Given the description of an element on the screen output the (x, y) to click on. 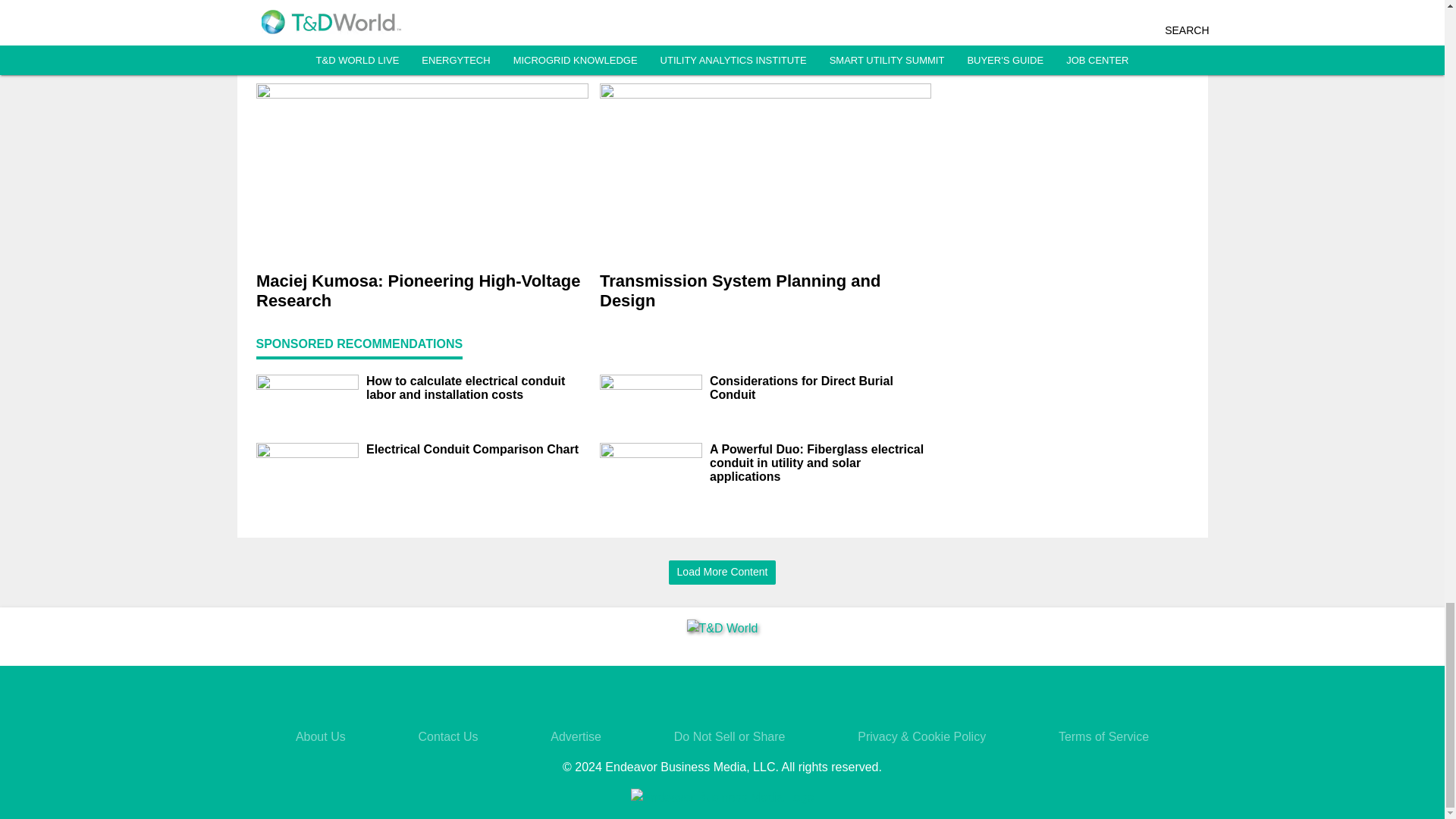
Electrical Conduit Comparison Chart (476, 449)
Considerations for Direct Burial Conduit (820, 388)
Maciej Kumosa: Pioneering High-Voltage Research (422, 291)
Transmission System Planning and Design (764, 291)
